Given the description of an element on the screen output the (x, y) to click on. 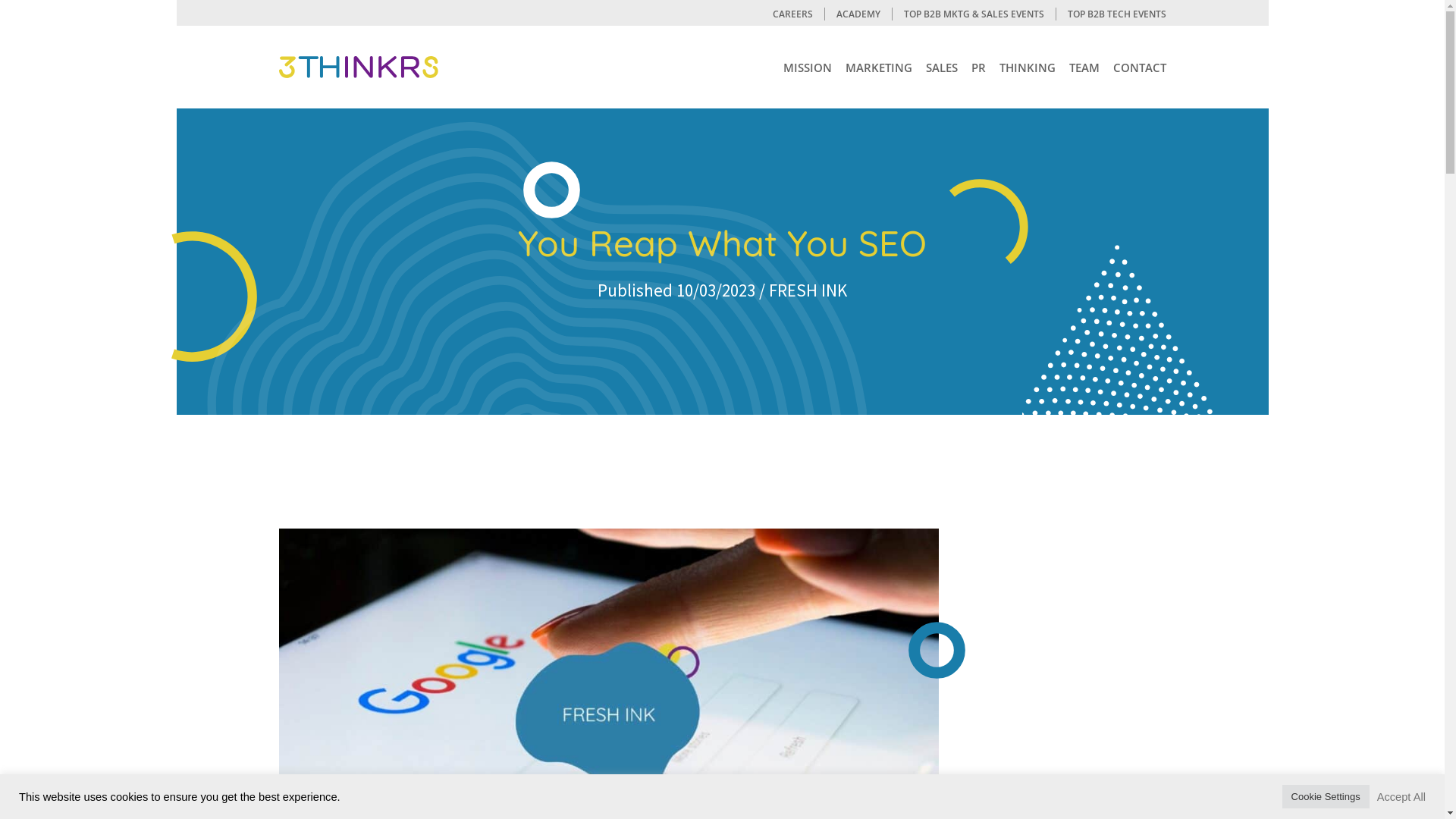
ACADEMY Element type: text (858, 13)
SALES Element type: text (941, 66)
MARKETING Element type: text (877, 66)
MISSION Element type: text (806, 66)
CONTACT Element type: text (1139, 66)
TOP B2B MKTG & SALES EVENTS Element type: text (973, 13)
TOP B2B TECH EVENTS Element type: text (1115, 13)
CAREERS Element type: text (793, 13)
FRESH INK Element type: text (807, 290)
Accept All Element type: text (1401, 796)
PR Element type: text (977, 66)
Cookie Settings Element type: text (1325, 796)
TEAM Element type: text (1084, 66)
THINKING Element type: text (1027, 66)
